Given the description of an element on the screen output the (x, y) to click on. 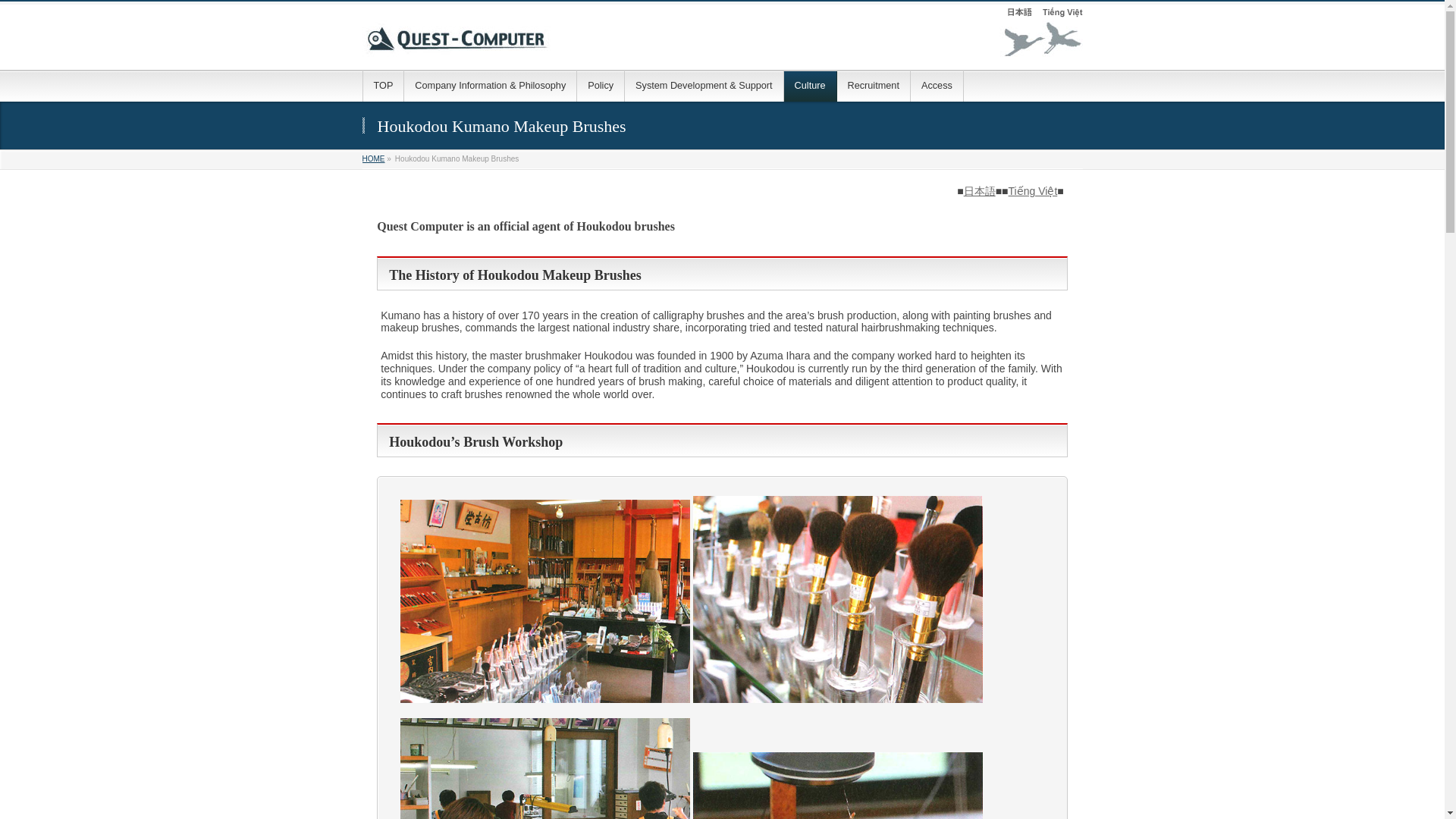
HOME (373, 158)
Quest-Computer Co.,Ltd. (722, 40)
Policy (600, 86)
Access (937, 86)
TOP (383, 86)
Recruitment (874, 86)
Culture (810, 86)
